Given the description of an element on the screen output the (x, y) to click on. 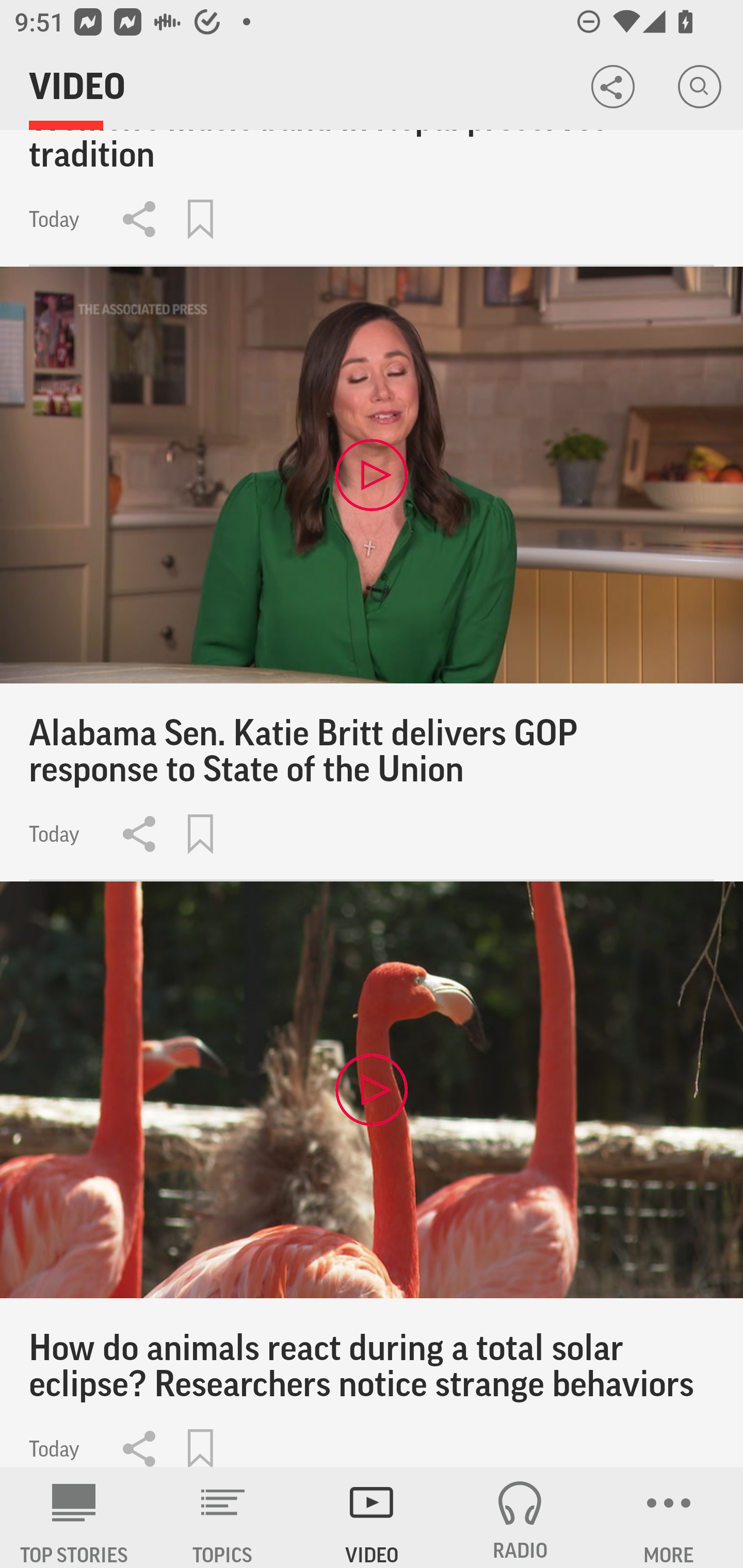
AP News TOP STORIES (74, 1517)
TOPICS (222, 1517)
VIDEO (371, 1517)
RADIO (519, 1517)
MORE (668, 1517)
